Given the description of an element on the screen output the (x, y) to click on. 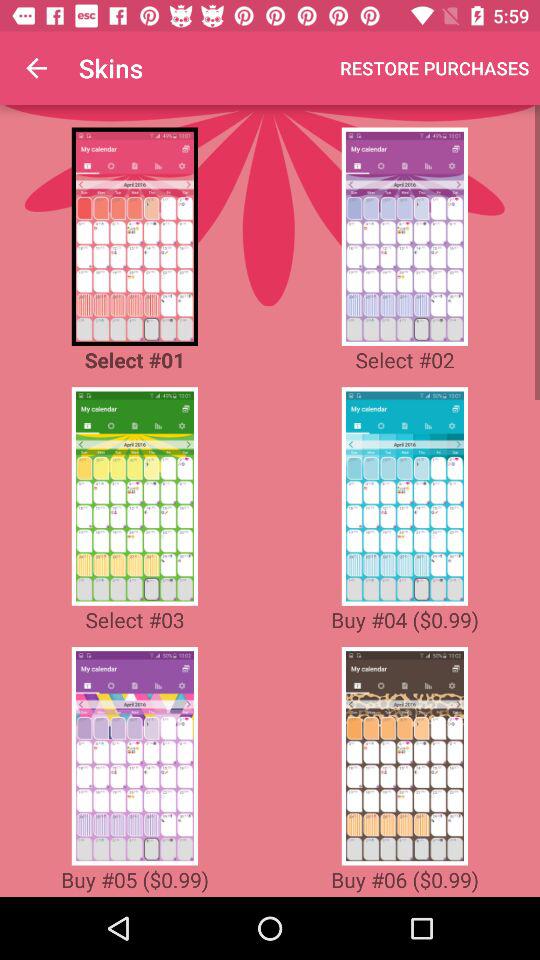
choose that one (134, 236)
